Given the description of an element on the screen output the (x, y) to click on. 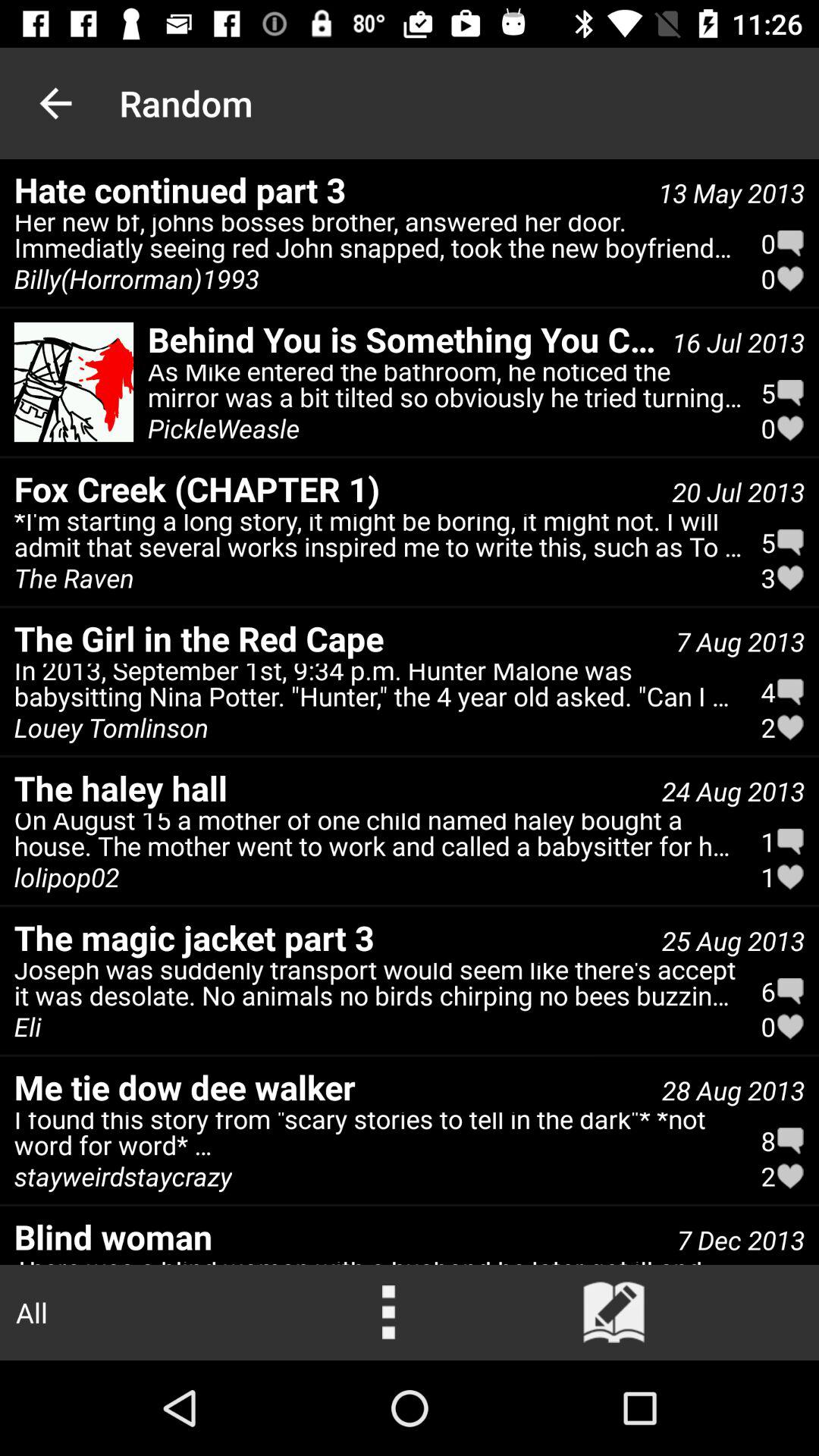
add your story (614, 1312)
